Given the description of an element on the screen output the (x, y) to click on. 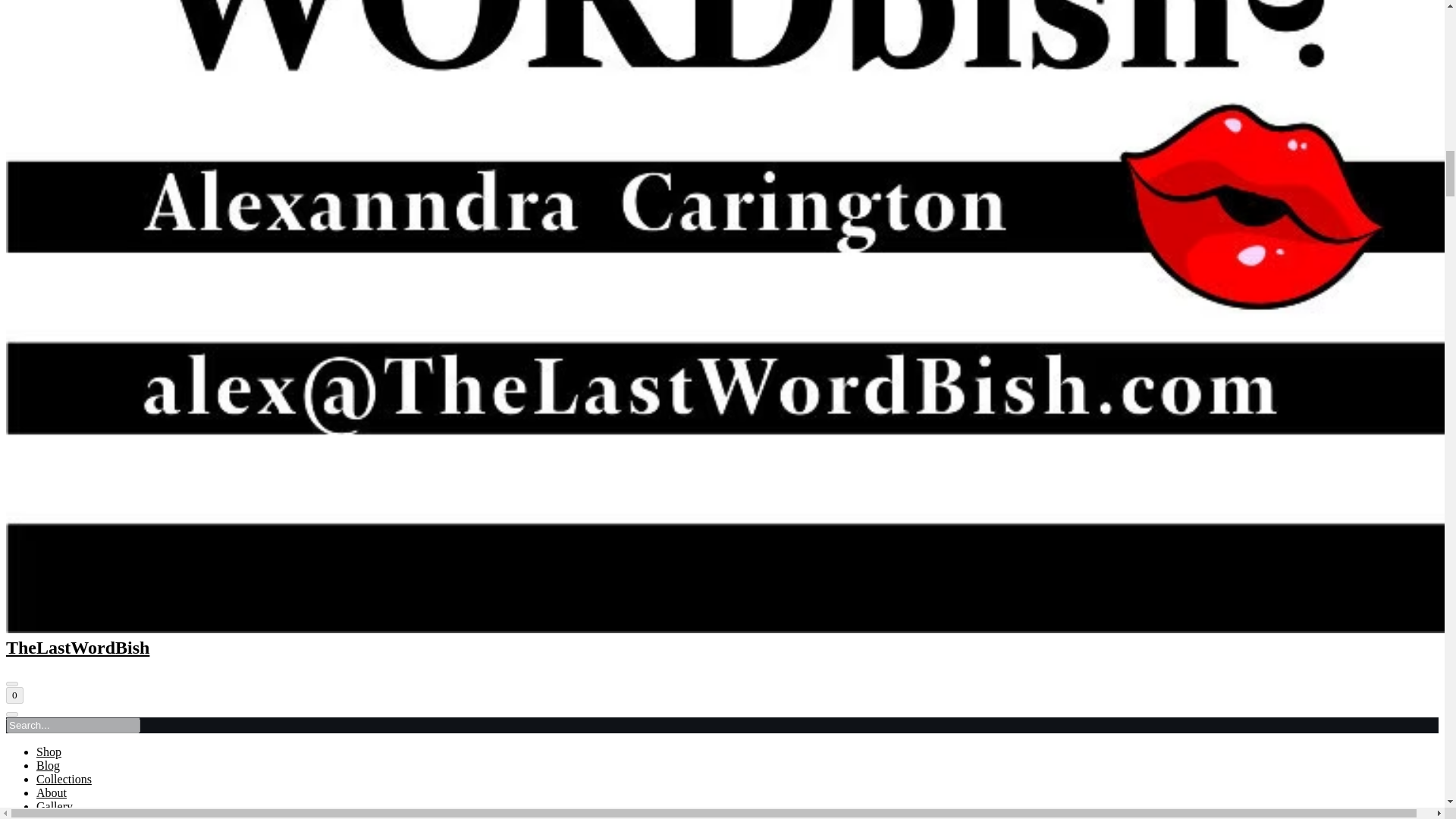
Collections (63, 779)
Shop (48, 751)
0 (14, 695)
About (51, 792)
Blog (47, 765)
Gallery (54, 806)
Contact Us (63, 816)
